Given the description of an element on the screen output the (x, y) to click on. 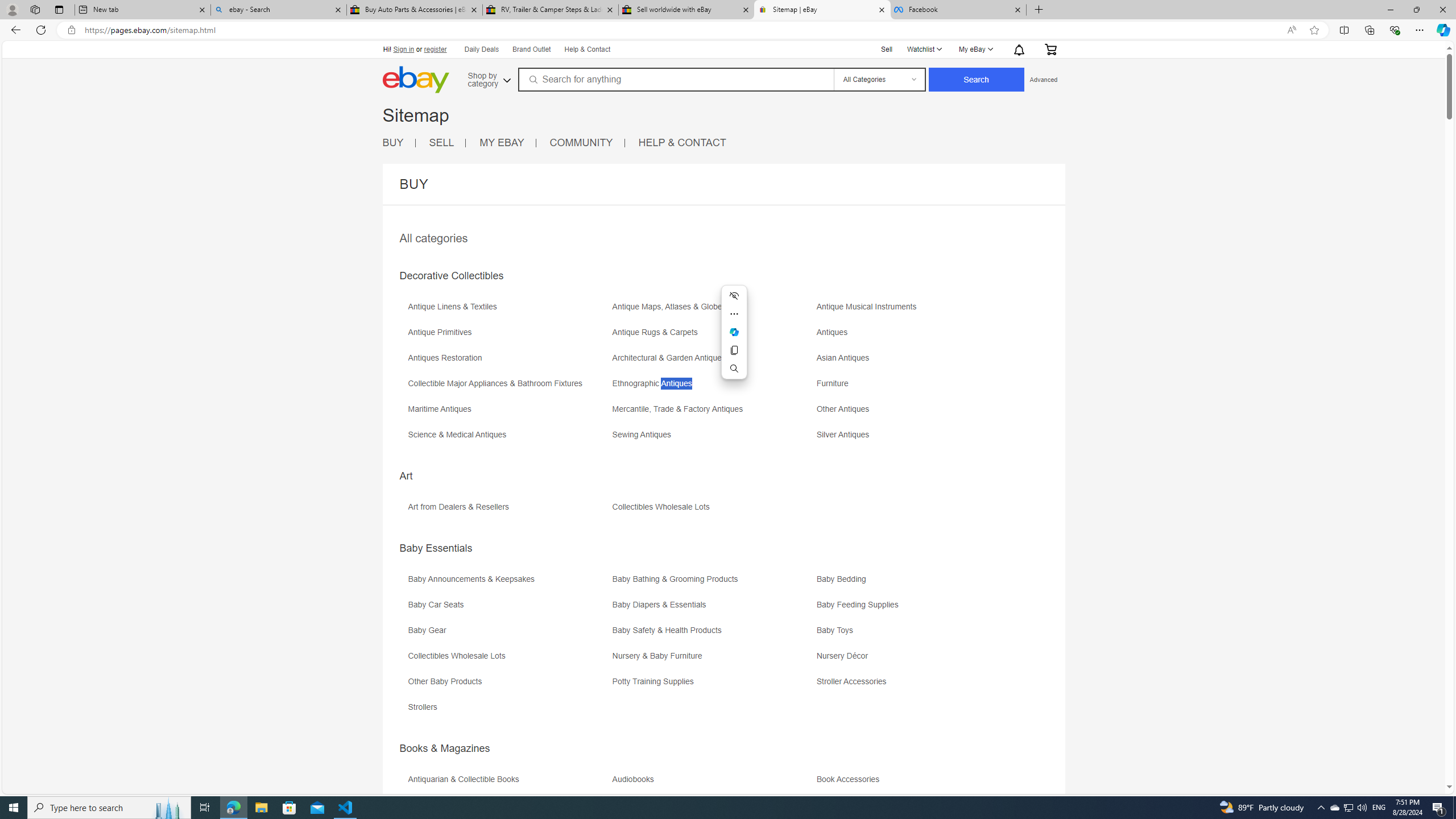
Collectible Major Appliances & Bathroom Fixtures (508, 387)
MY EBAY (507, 142)
Art (405, 475)
My eBayExpand My eBay (975, 49)
Nursery & Baby Furniture (659, 655)
Mini menu on text selection (733, 339)
Baby Bathing & Grooming Products (677, 579)
More actions (734, 313)
Collectibles Wholesale Lots (459, 655)
Select a category for search (878, 79)
Antiquarian & Collectible Books (508, 783)
Baby Bedding (844, 579)
